Given the description of an element on the screen output the (x, y) to click on. 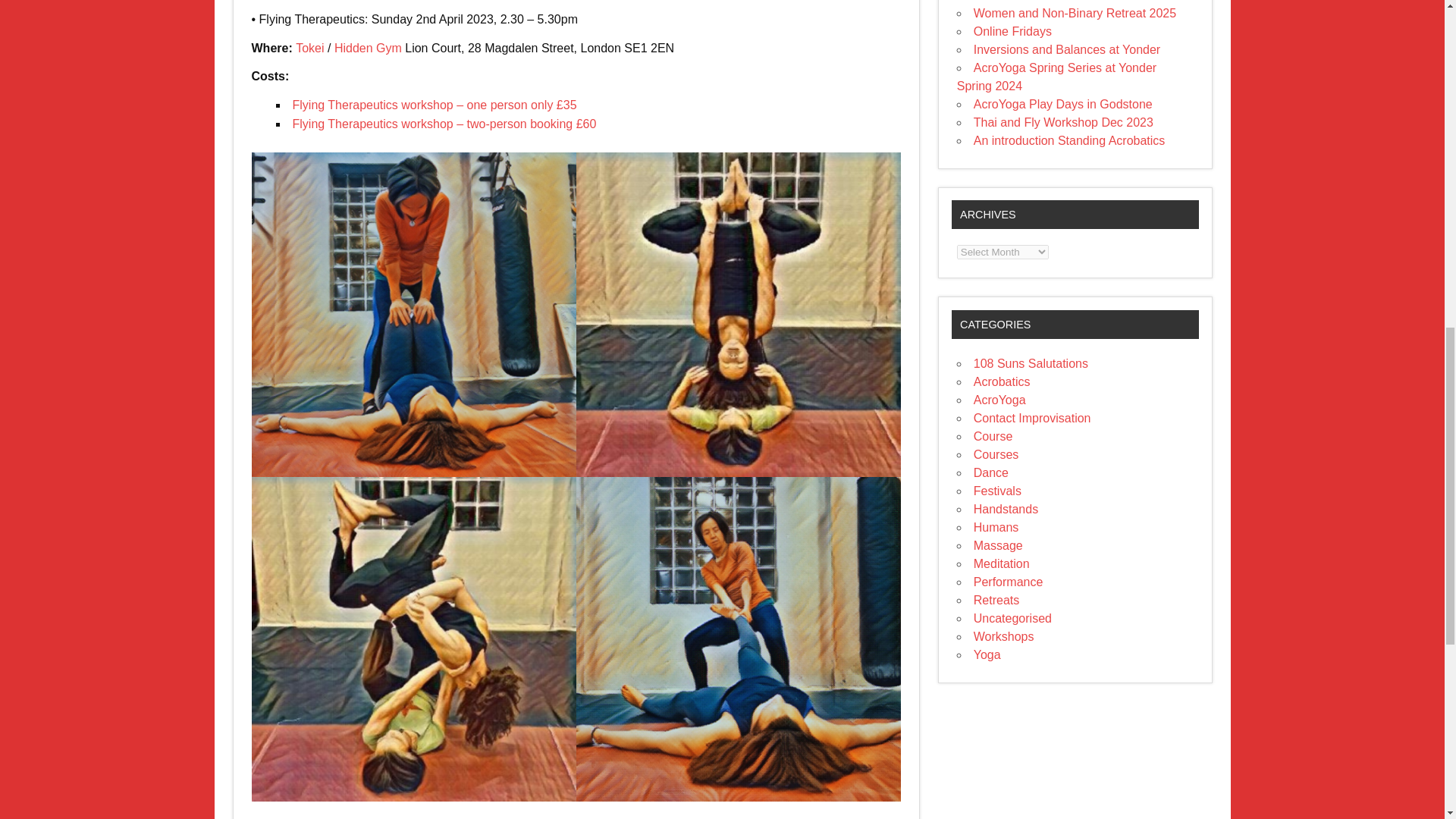
AcroYoga (1000, 399)
Acrobatics (1002, 381)
Contact Improvisation (1032, 418)
AcroYoga Spring Series at Yonder Spring 2024 (1056, 76)
Women and Non-Binary Retreat 2025 (1075, 12)
Courses (996, 454)
Inversions and Balances at Yonder (1067, 49)
Online Fridays (1012, 31)
Course (993, 436)
